Given the description of an element on the screen output the (x, y) to click on. 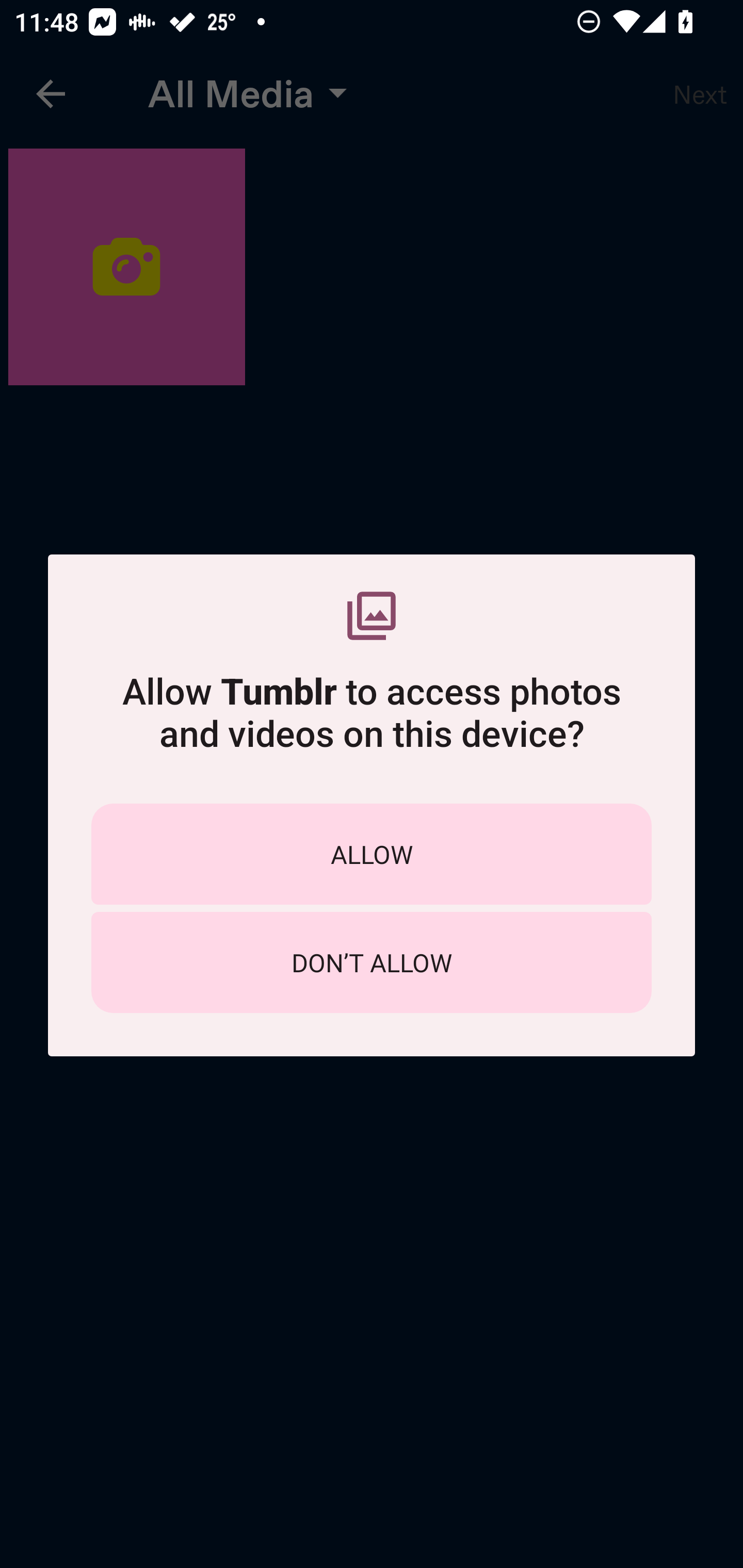
ALLOW (371, 853)
DON’T ALLOW (371, 962)
